Given the description of an element on the screen output the (x, y) to click on. 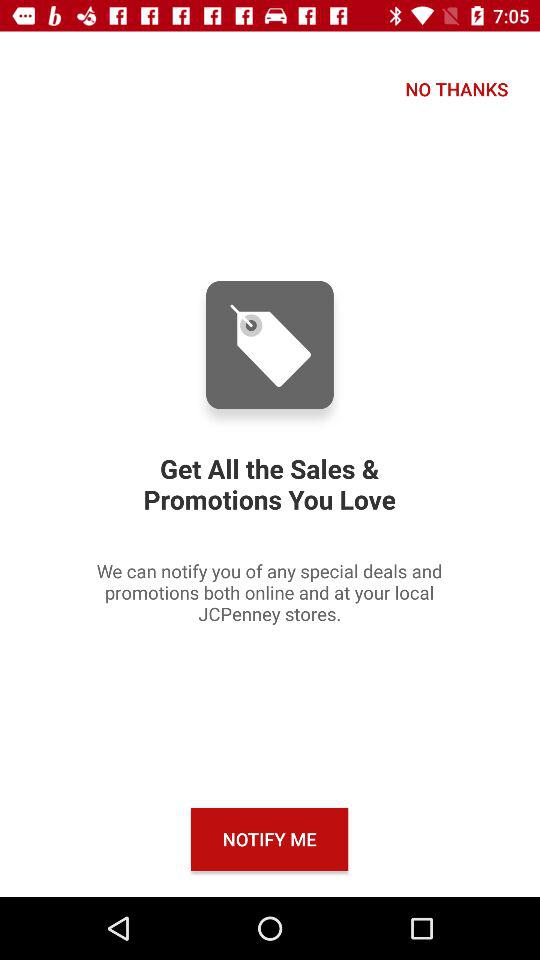
tap item at the top right corner (456, 88)
